Given the description of an element on the screen output the (x, y) to click on. 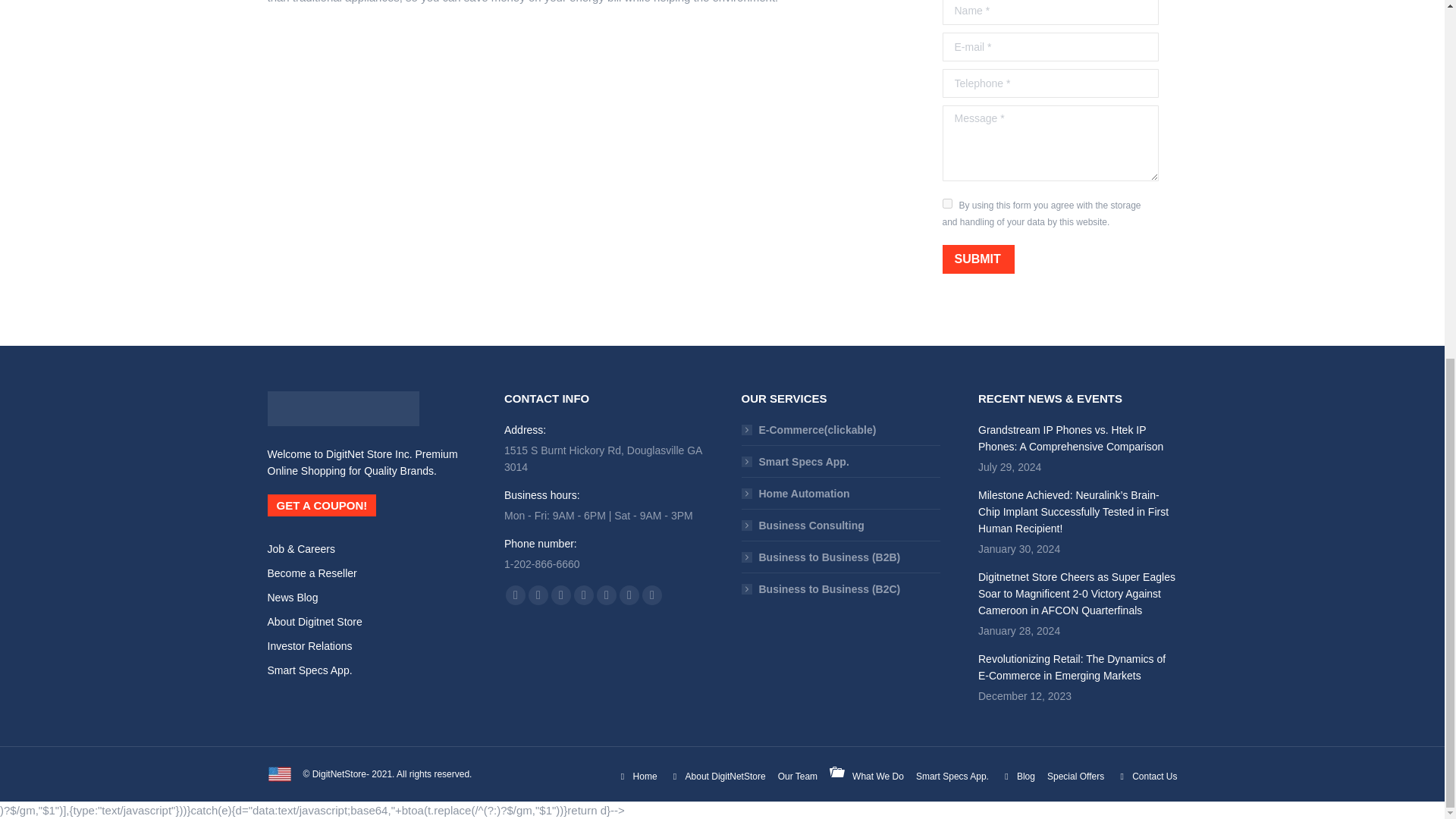
Linkedin page opens in new window (583, 595)
News Blog (291, 597)
Whatsapp page opens in new window (629, 595)
Facebook page opens in new window (515, 595)
SUBMIT (977, 258)
on (947, 203)
YouTube page opens in new window (560, 595)
X page opens in new window (538, 595)
Become a Reseller (311, 573)
GET A COUPON! (320, 505)
